Given the description of an element on the screen output the (x, y) to click on. 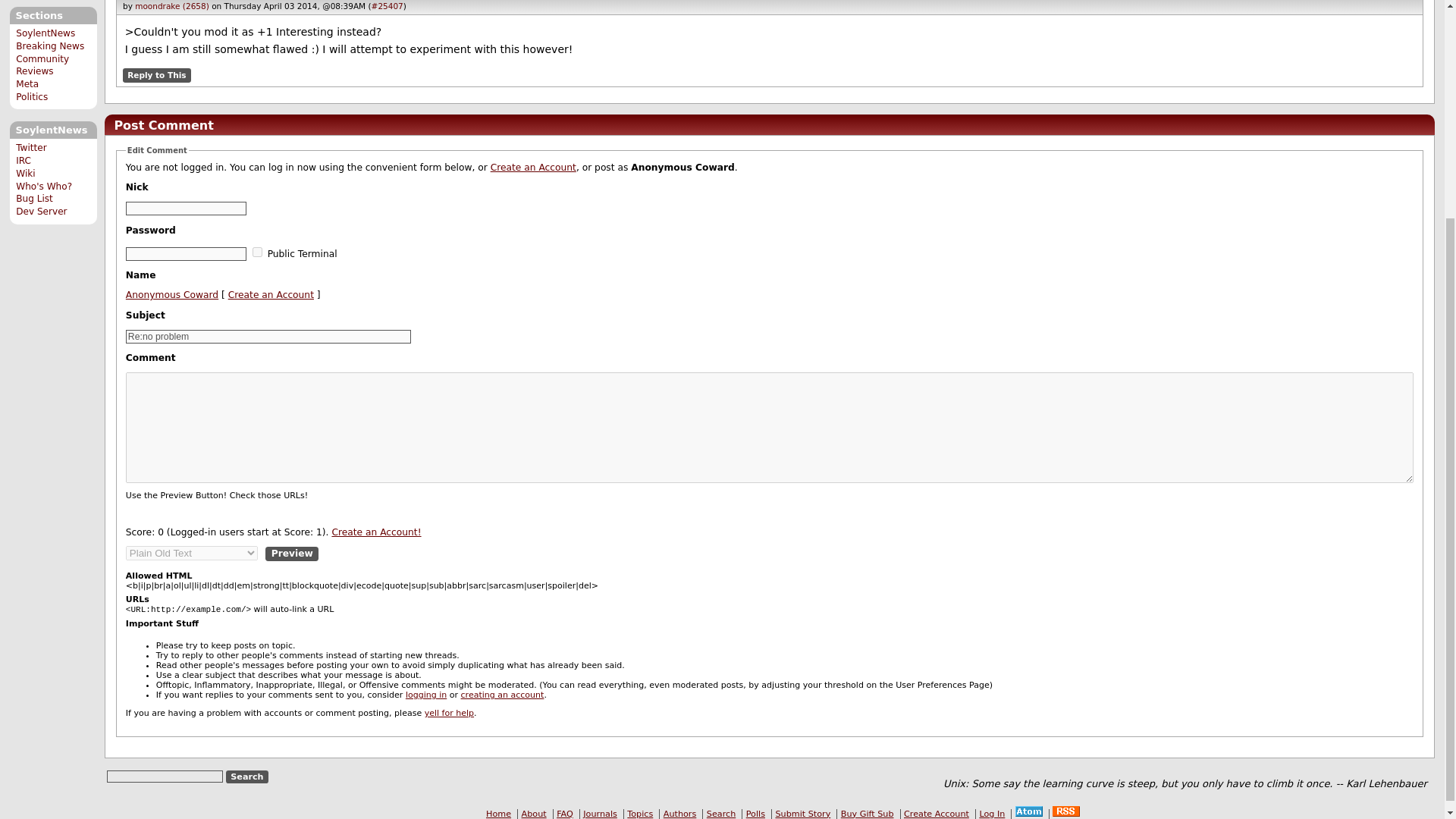
Politics (32, 96)
Community Reviews (42, 65)
Wiki (25, 173)
IRC (23, 160)
Re:no problem (267, 336)
Meta (27, 83)
Twitter (31, 147)
Preview (291, 554)
SoylentNews (45, 32)
Bug List (34, 198)
Search (247, 776)
yes (256, 252)
Dev Server (41, 211)
Who's Who? (43, 185)
Breaking News (50, 45)
